Given the description of an element on the screen output the (x, y) to click on. 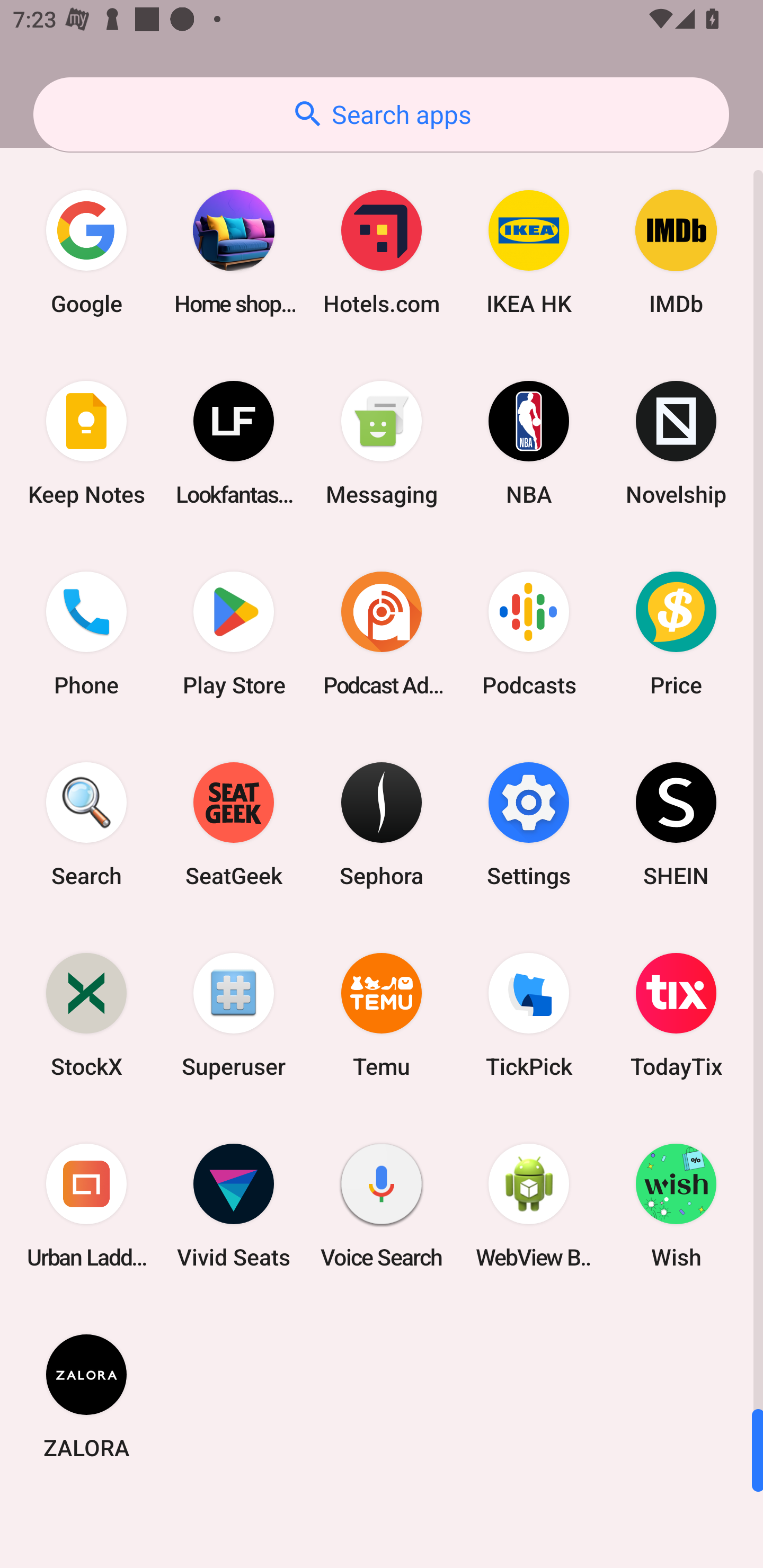
  Search apps (381, 114)
Google (86, 252)
Home shopping (233, 252)
Hotels.com (381, 252)
IKEA HK (528, 252)
IMDb (676, 252)
Keep Notes (86, 442)
Lookfantastic (233, 442)
Messaging (381, 442)
NBA (528, 442)
Novelship (676, 442)
Phone (86, 633)
Play Store (233, 633)
Podcast Addict (381, 633)
Podcasts (528, 633)
Price (676, 633)
Search (86, 823)
SeatGeek (233, 823)
Sephora (381, 823)
Settings (528, 823)
SHEIN (676, 823)
StockX (86, 1014)
Superuser (233, 1014)
Temu (381, 1014)
TickPick (528, 1014)
TodayTix (676, 1014)
Urban Ladder (86, 1205)
Vivid Seats (233, 1205)
Voice Search (381, 1205)
WebView Browser Tester (528, 1205)
Wish (676, 1205)
ZALORA (86, 1396)
